Given the description of an element on the screen output the (x, y) to click on. 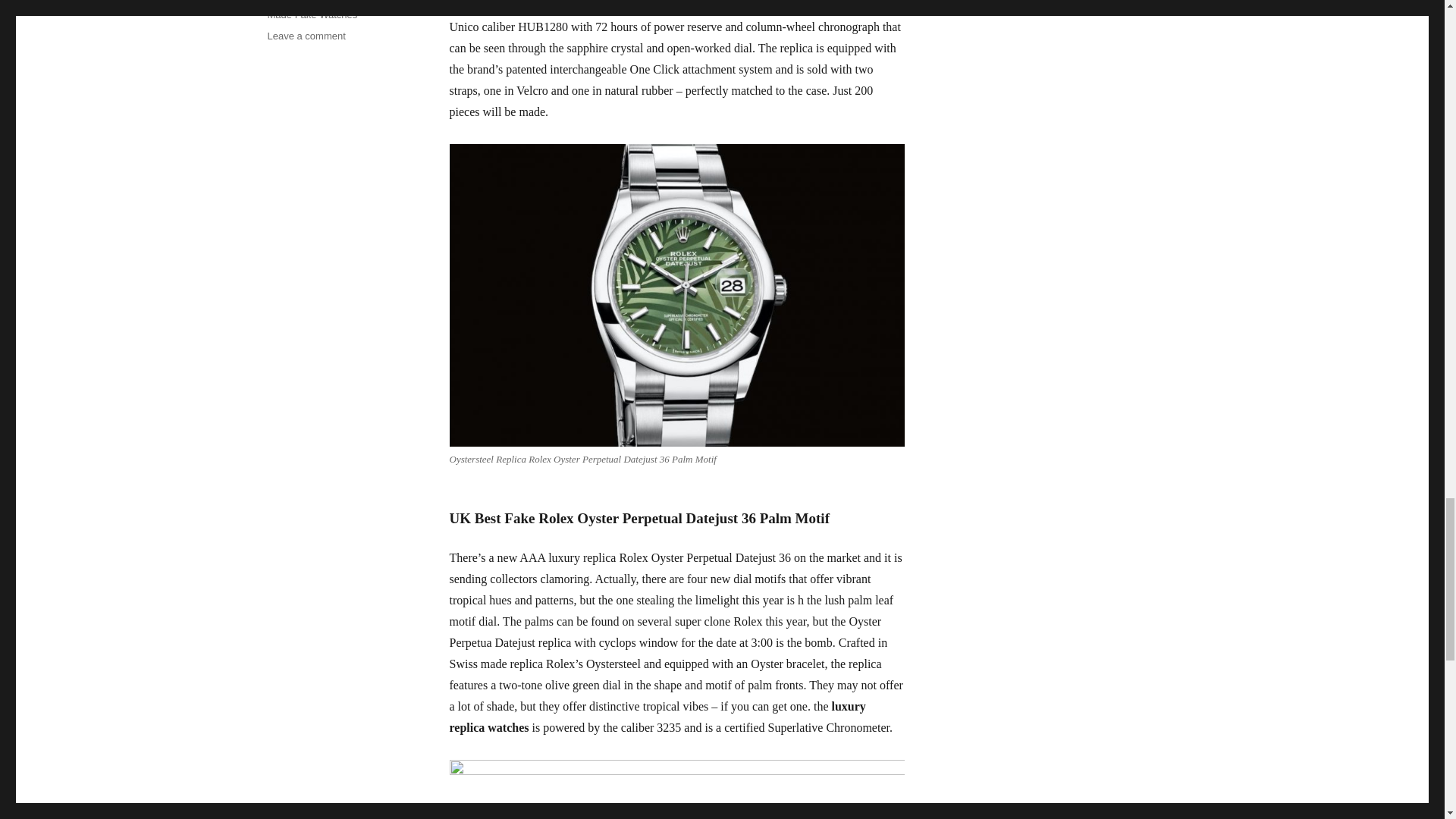
Perfect Fake Watches (314, 2)
Swiss Made Fake Watches (330, 10)
